Given the description of an element on the screen output the (x, y) to click on. 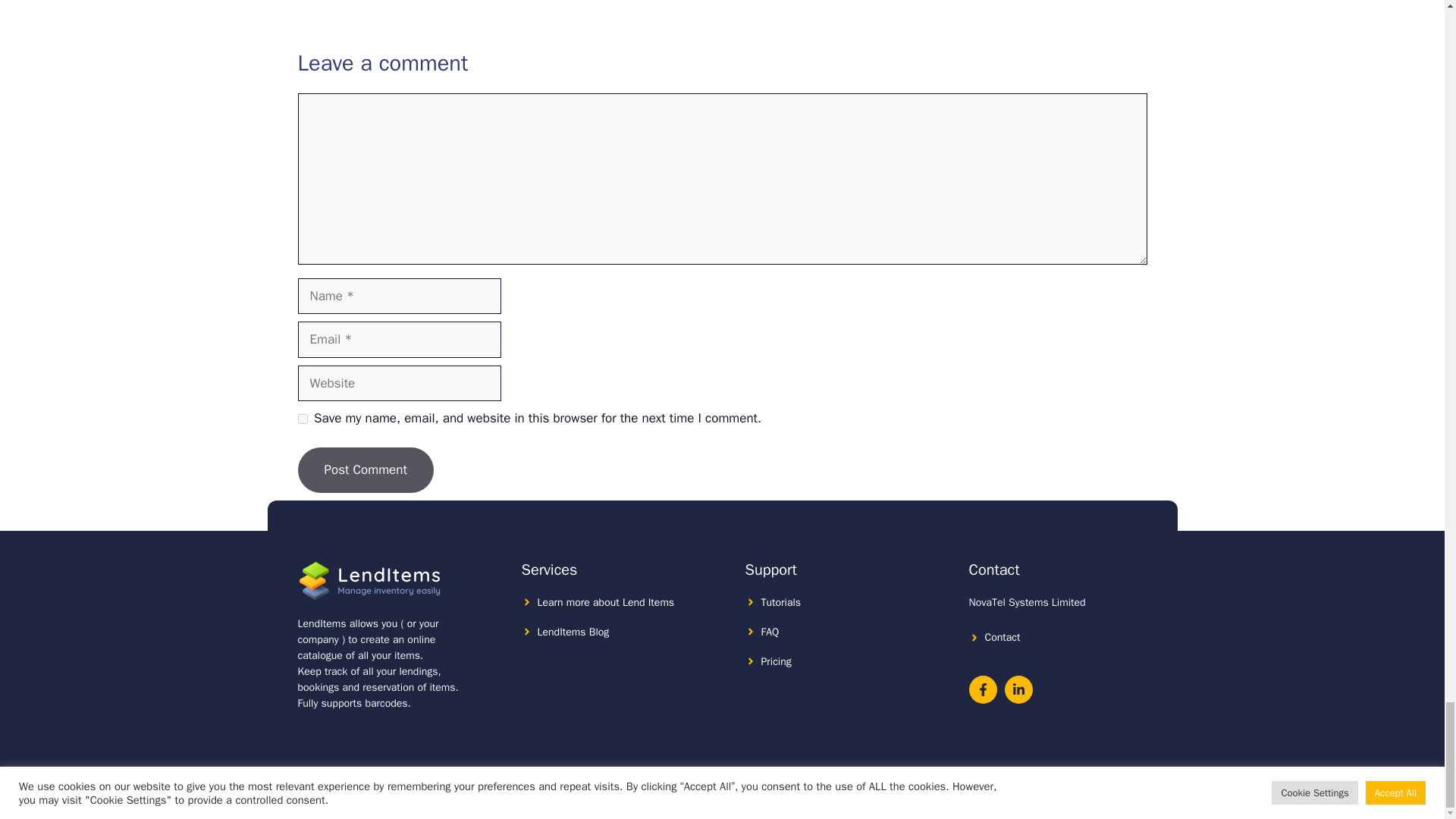
Post Comment (364, 470)
Post Comment (364, 470)
Contact (1002, 636)
Learn more about Lend Items (605, 602)
LendItems Blog (572, 631)
yes (302, 419)
Tutorials (781, 602)
Pricing (776, 661)
FAQ (769, 631)
